Given the description of an element on the screen output the (x, y) to click on. 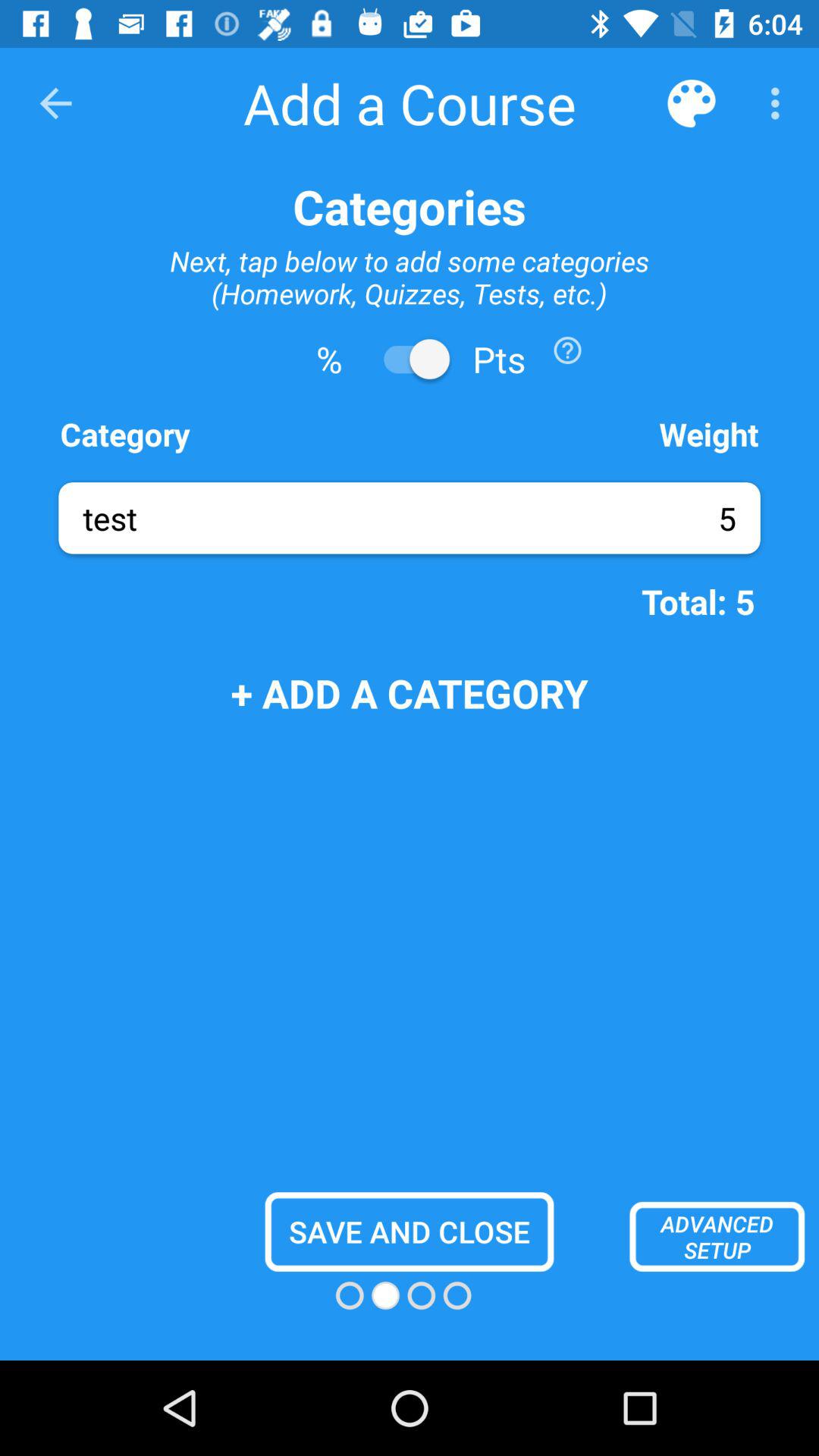
tap the icon to the left of advanced
setup (409, 1231)
